Given the description of an element on the screen output the (x, y) to click on. 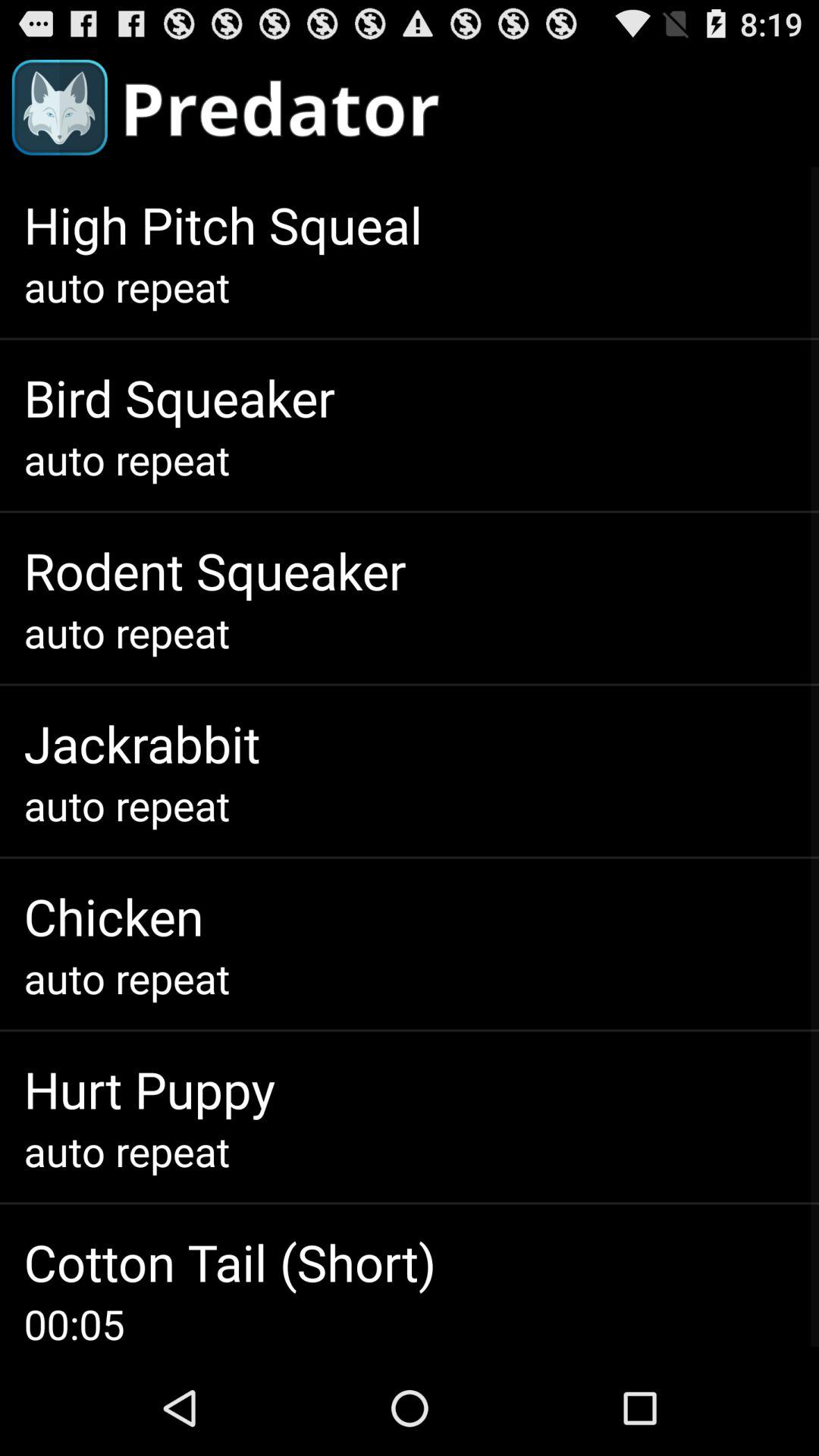
launch cotton tail (short) icon (229, 1262)
